Given the description of an element on the screen output the (x, y) to click on. 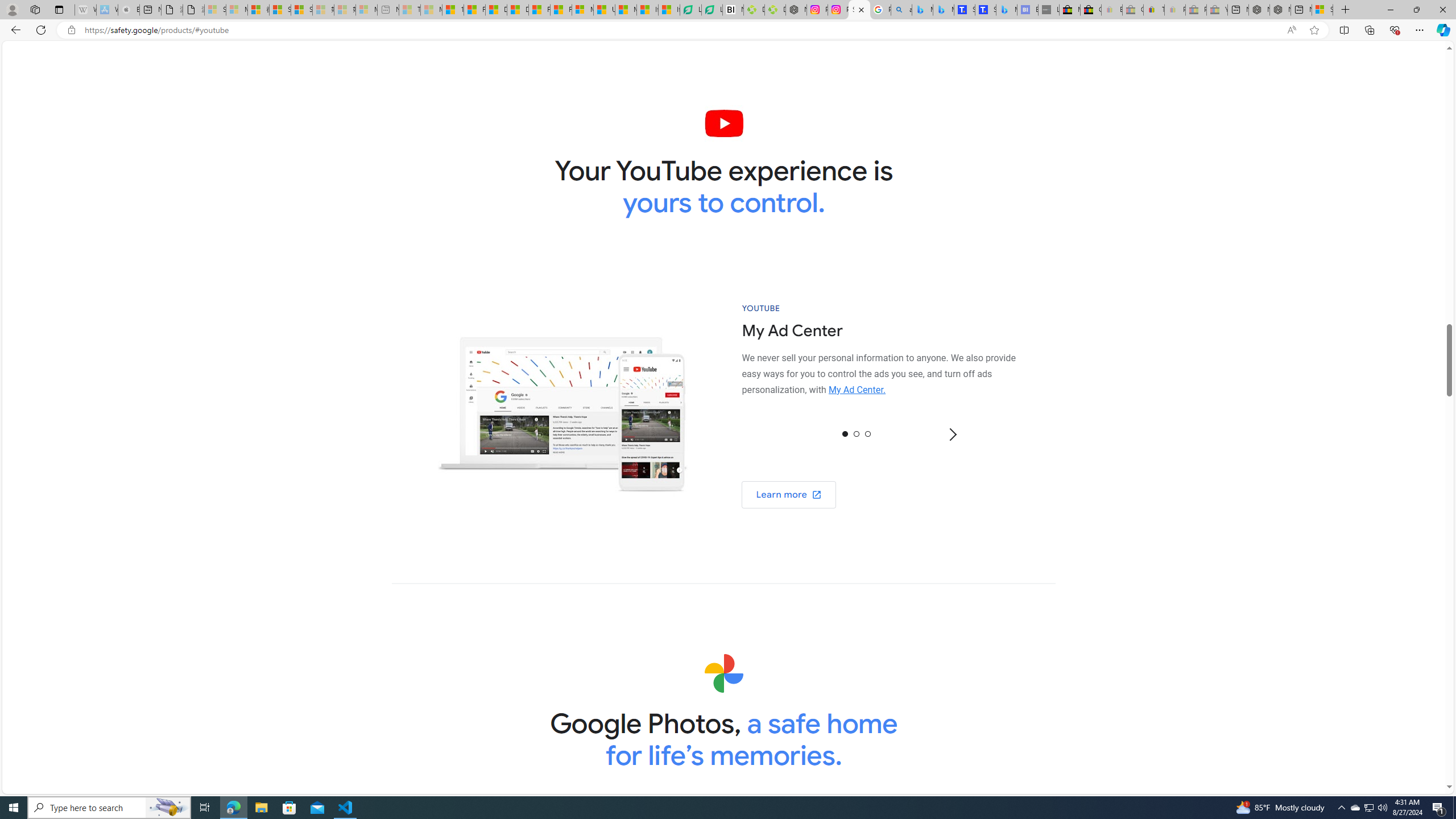
A laptop and phone featuring YouTube (561, 405)
Top Stories - MSN - Sleeping (409, 9)
Marine life - MSN - Sleeping (431, 9)
Nordace - Nordace Edin Collection (795, 9)
Foo BAR | Trusted Community Engagement and Contributions (561, 9)
Microsoft account | Account Checkup - Sleeping (365, 9)
